Given the description of an element on the screen output the (x, y) to click on. 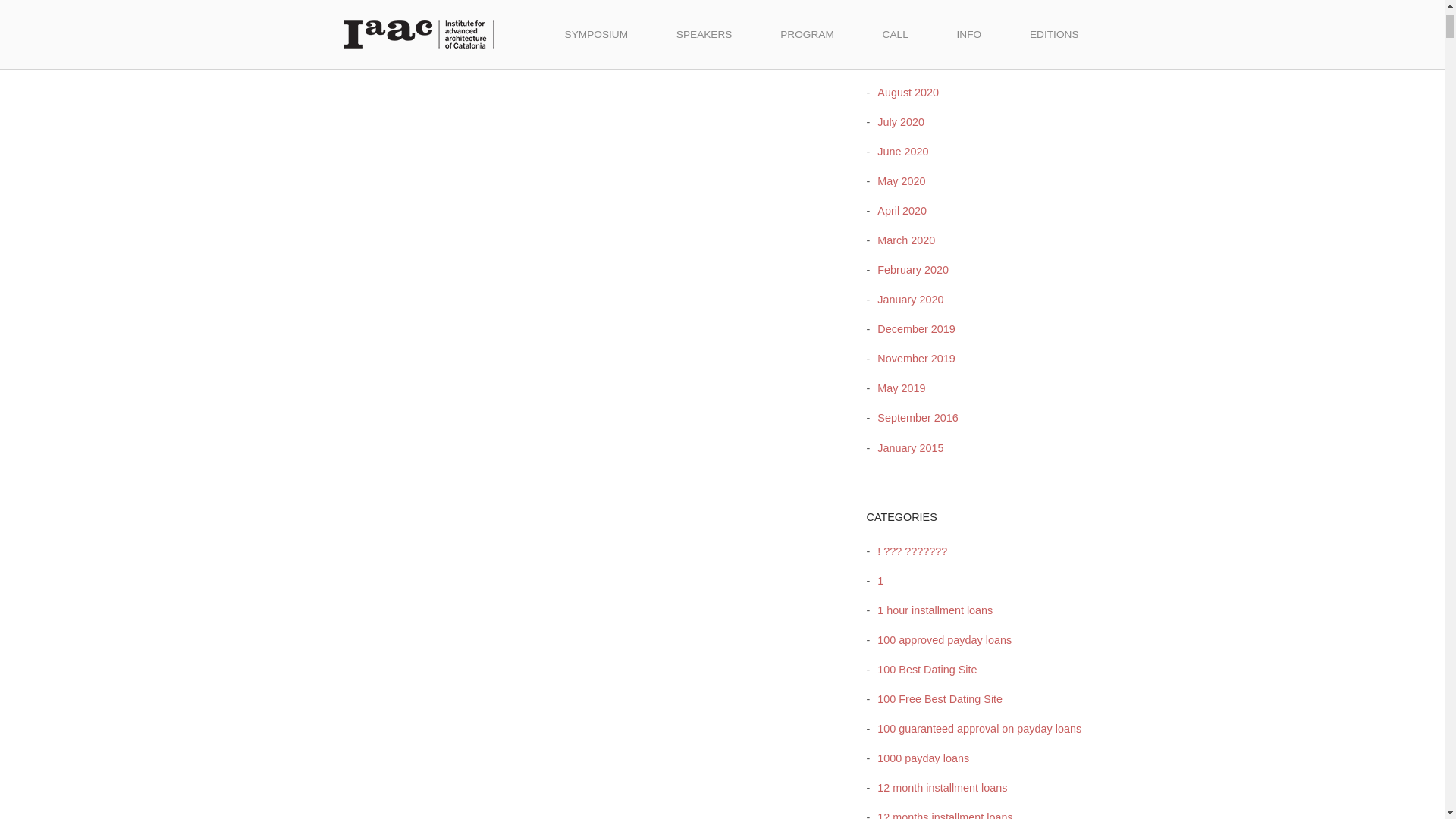
October 2020 (906, 33)
July 2020 (896, 121)
August 2020 (904, 92)
November 2020 (912, 4)
September 2020 (913, 62)
June 2020 (898, 151)
